Given the description of an element on the screen output the (x, y) to click on. 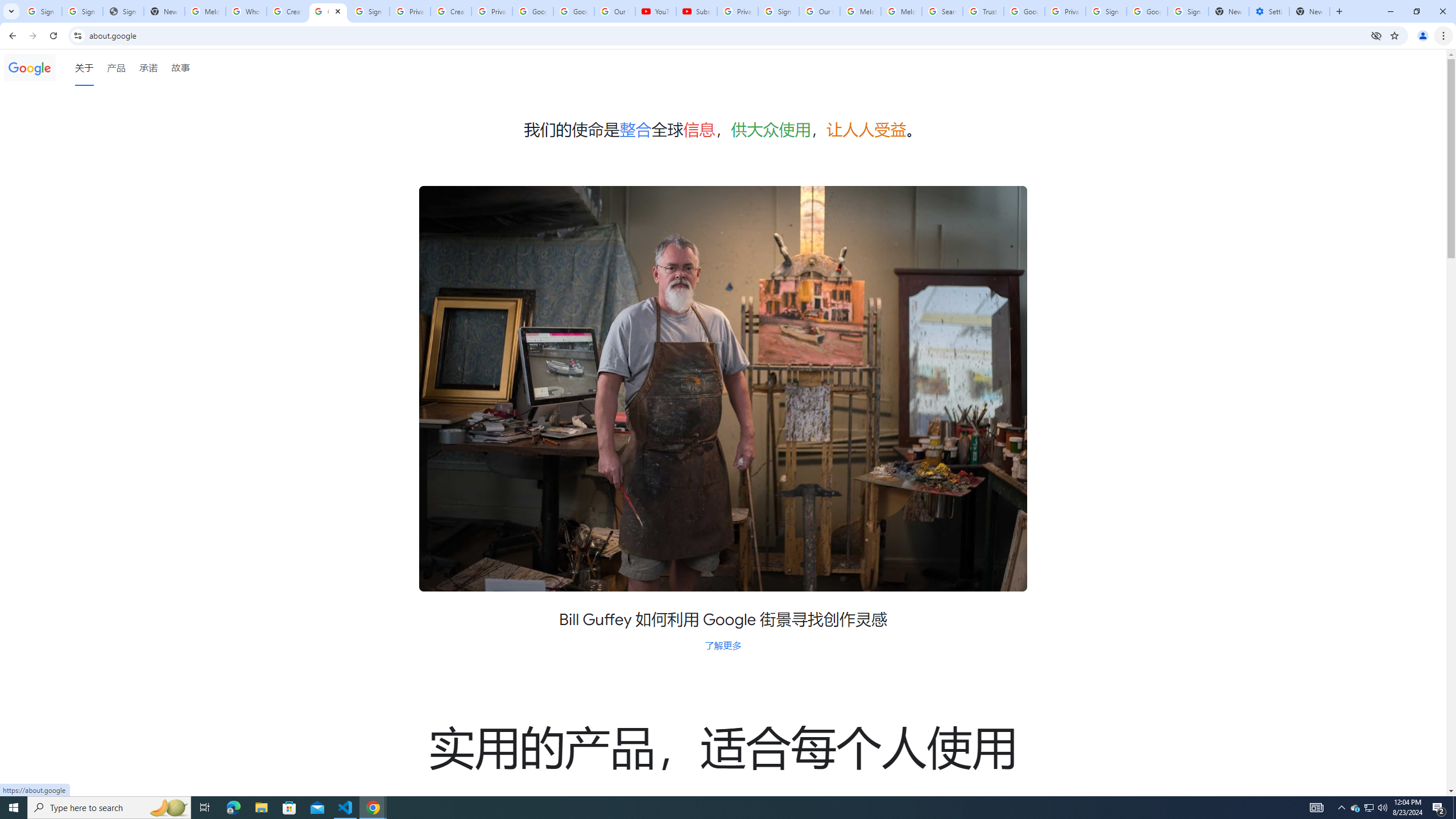
Search our Doodle Library Collection - Google Doodles (942, 11)
Google Ads - Sign in (1023, 11)
New Tab (1309, 11)
Google Cybersecurity Innovations - Google Safety Center (1146, 11)
Subscriptions - YouTube (696, 11)
Create your Google Account (450, 11)
Create your Google Account (287, 11)
